Given the description of an element on the screen output the (x, y) to click on. 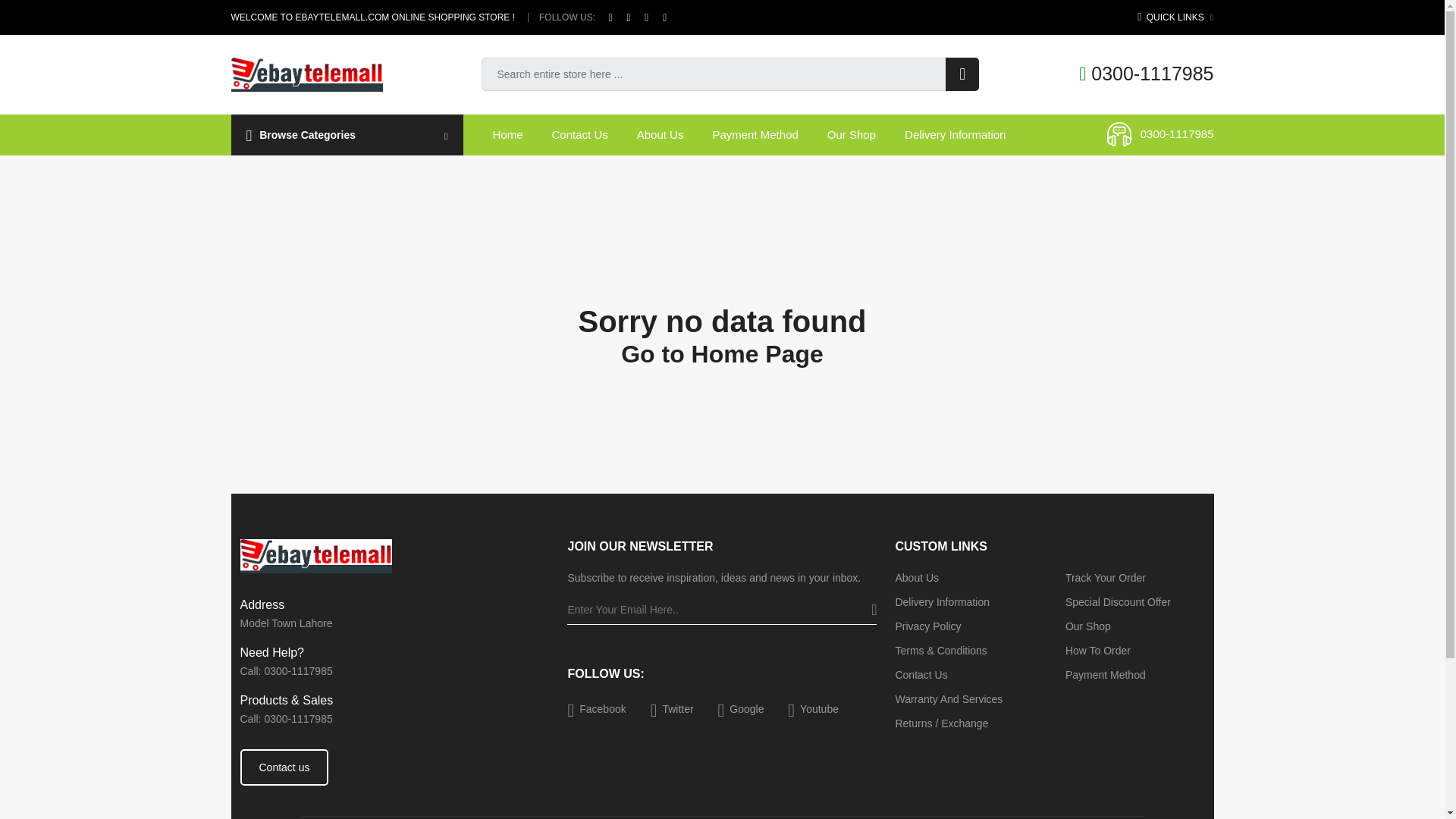
Youtube (812, 709)
QUICK LINKS (1174, 17)
0300-1117985 (1145, 73)
Facebook (596, 709)
Twitter (672, 709)
Google (740, 709)
